Given the description of an element on the screen output the (x, y) to click on. 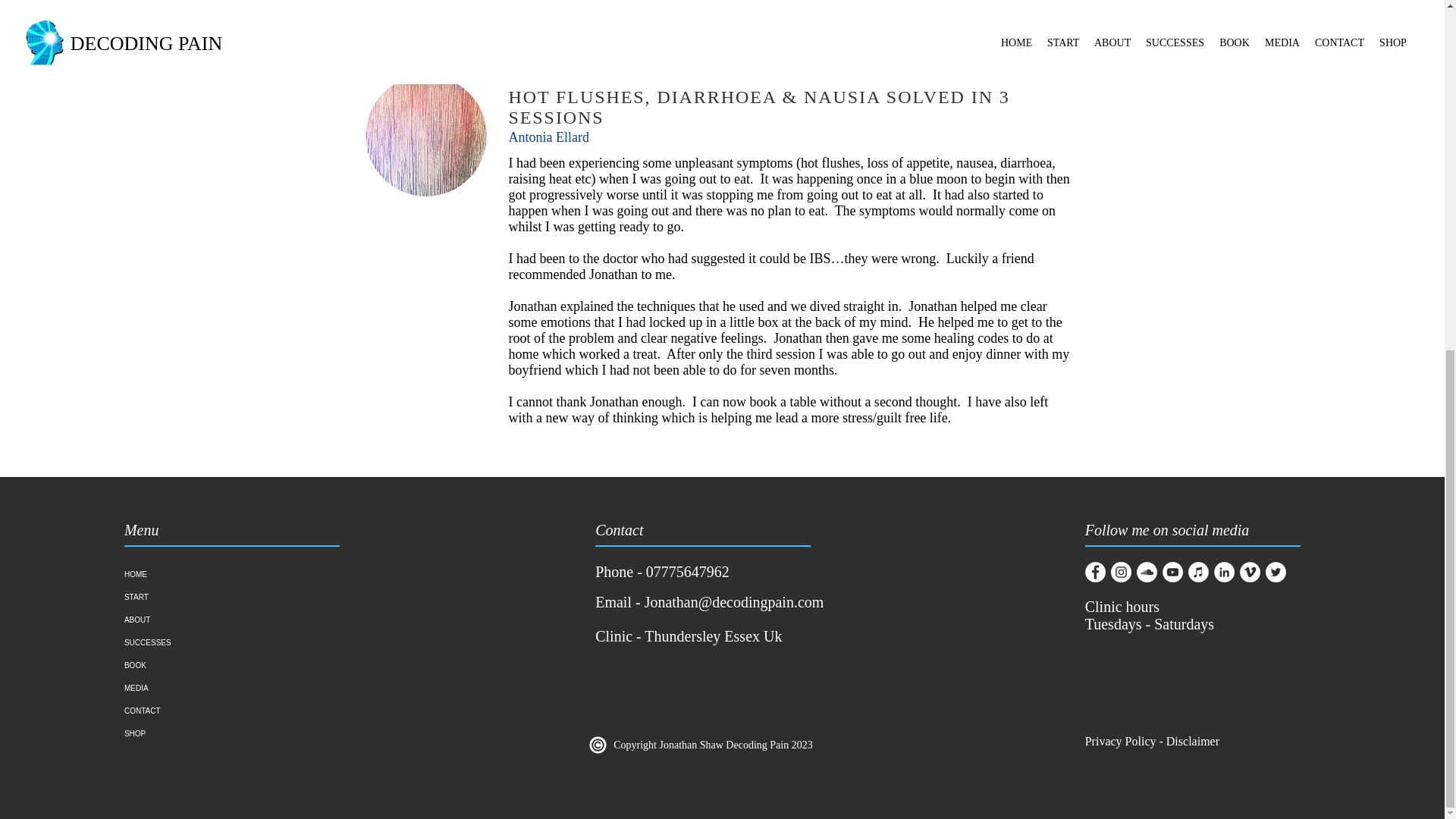
HOME (204, 574)
BOOK (204, 665)
Privacy Policy (1120, 740)
Disclaimer  (1194, 740)
SHOP (204, 733)
CONTACT (204, 711)
SUCCESSES (204, 642)
